Given the description of an element on the screen output the (x, y) to click on. 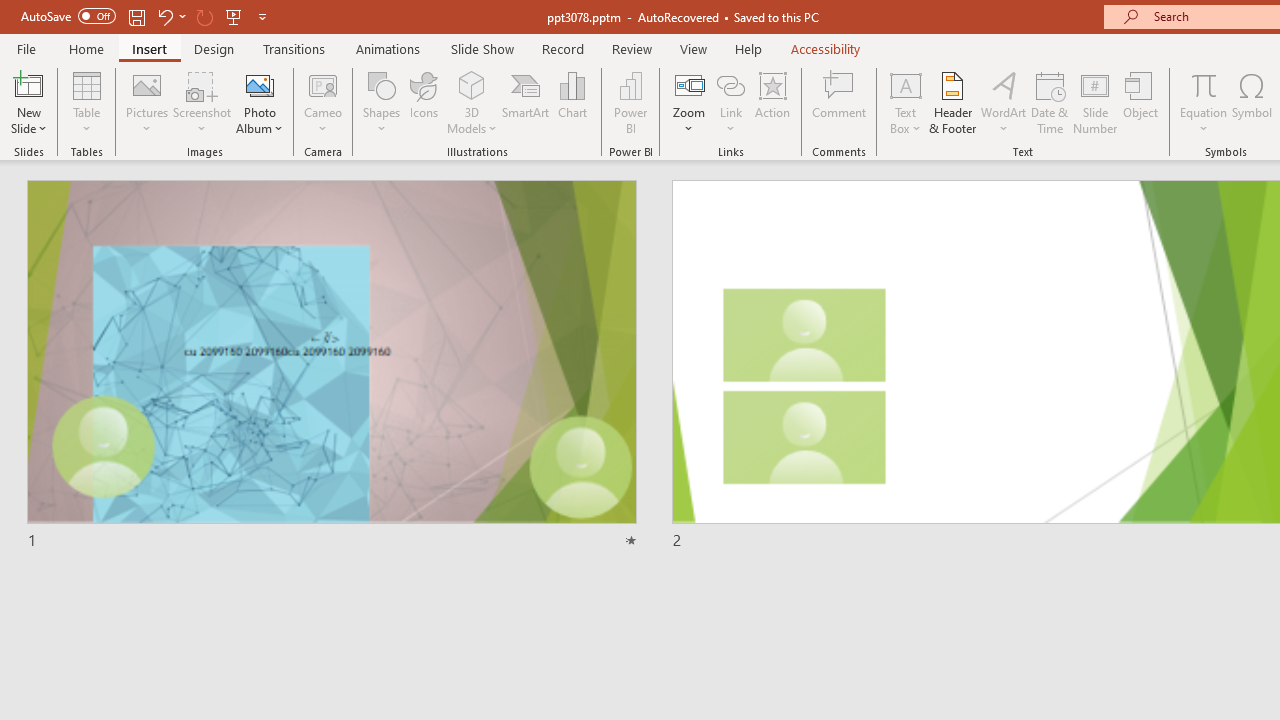
Chart... (572, 102)
Link (731, 102)
Screenshot (202, 102)
Table (86, 102)
